Given the description of an element on the screen output the (x, y) to click on. 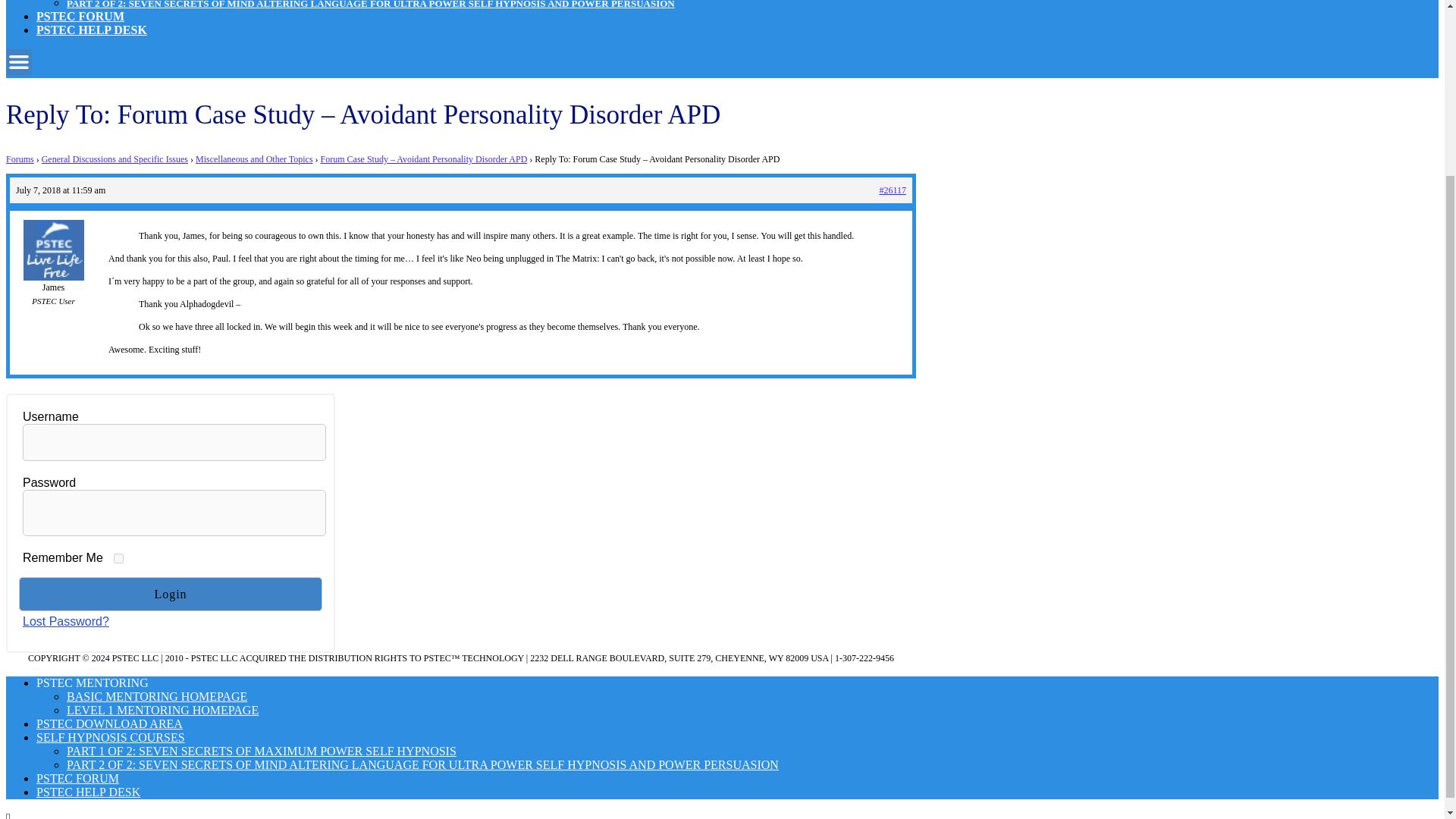
PSTEC HELP DESK (91, 29)
Lost Password? (66, 621)
PSTEC DOWNLOAD AREA (109, 723)
Forums (19, 158)
LEVEL 1 MENTORING HOMEPAGE (162, 709)
Miscellaneous and Other Topics (254, 158)
Login (169, 593)
Yes (118, 558)
PSTEC HELP DESK (87, 791)
General Discussions and Specific Issues (114, 158)
PSTEC MENTORING (92, 682)
BASIC MENTORING HOMEPAGE (156, 696)
PSTEC FORUM (77, 778)
